Given the description of an element on the screen output the (x, y) to click on. 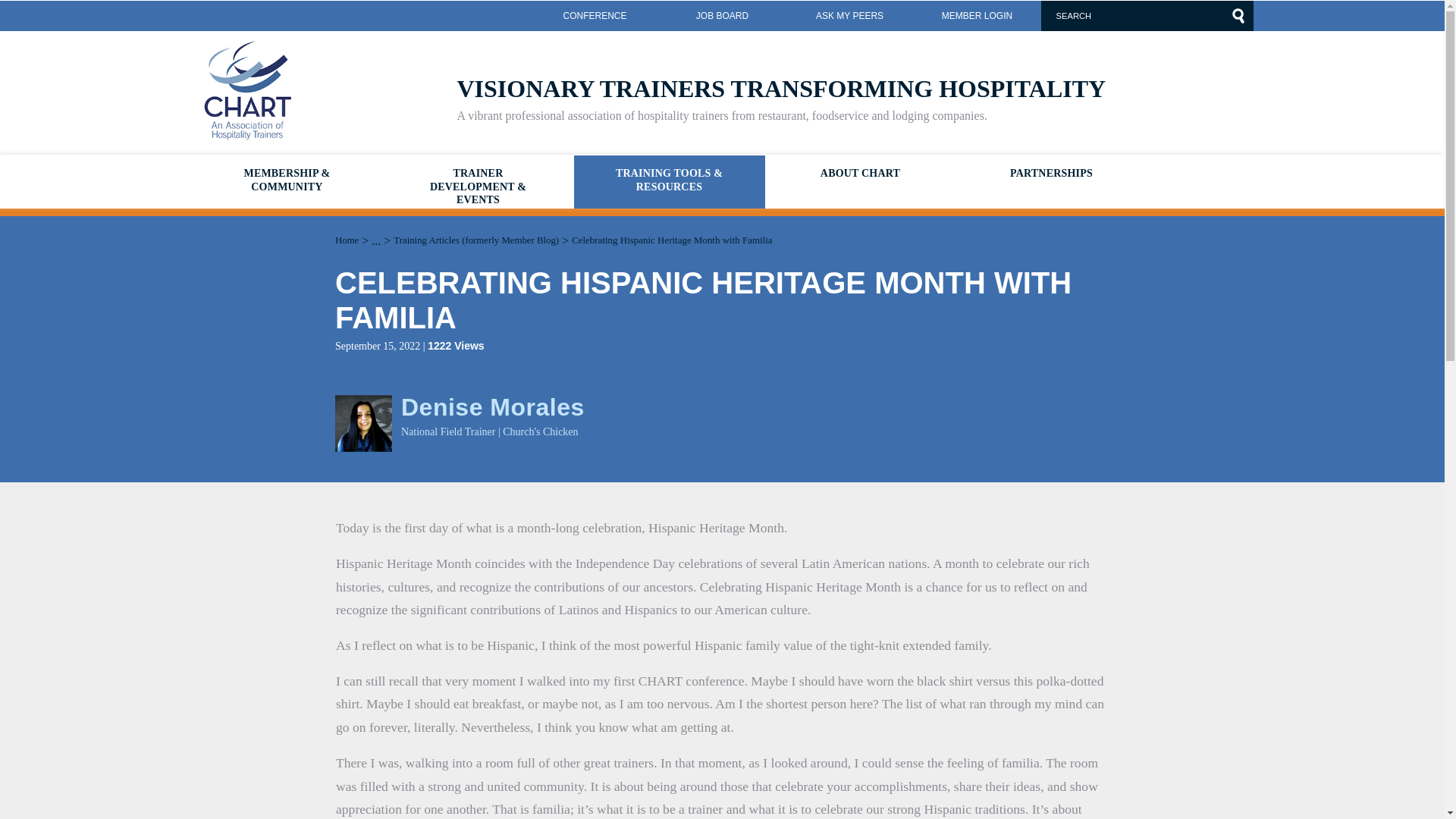
sisea.search (1237, 15)
MEMBER LOGIN (976, 15)
ASK MY PEERS (849, 15)
sisea.search (1237, 15)
CONFERENCE (594, 15)
JOB BOARD (722, 15)
sisea.search (1237, 15)
